Given the description of an element on the screen output the (x, y) to click on. 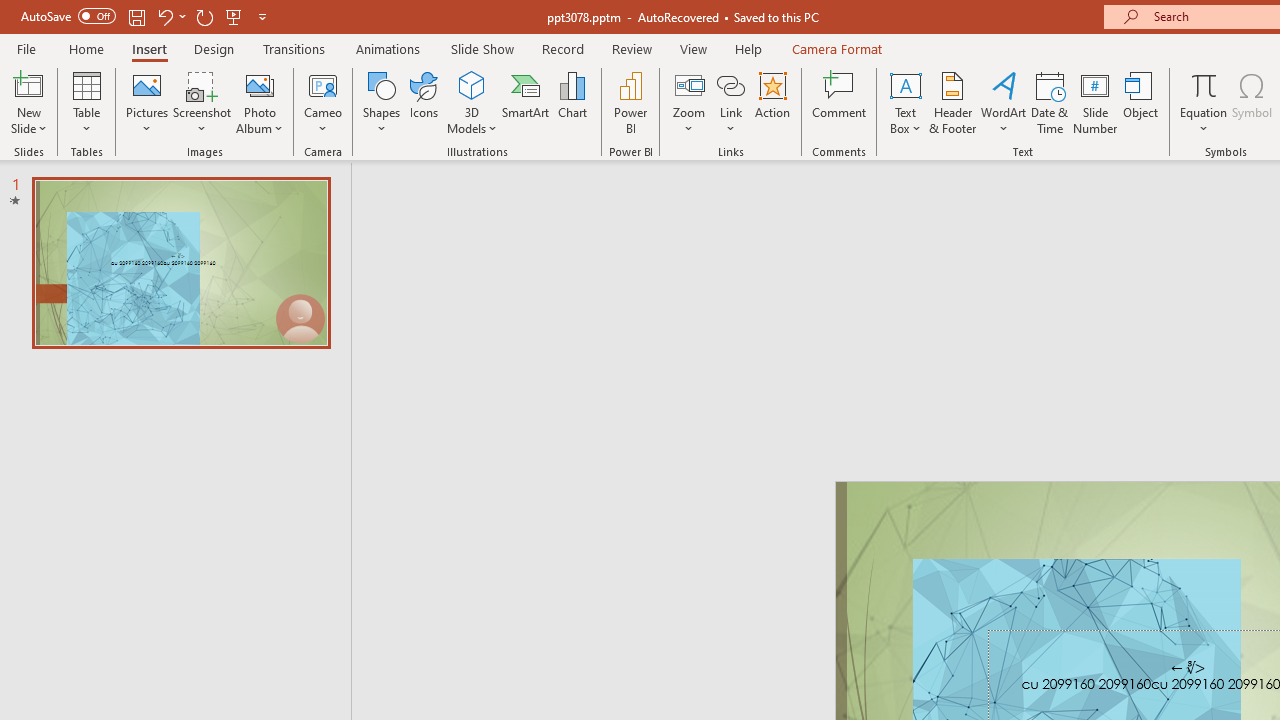
SmartArt... (525, 102)
TextBox 7 (1188, 668)
New Photo Album... (259, 84)
Chart... (572, 102)
